Given the description of an element on the screen output the (x, y) to click on. 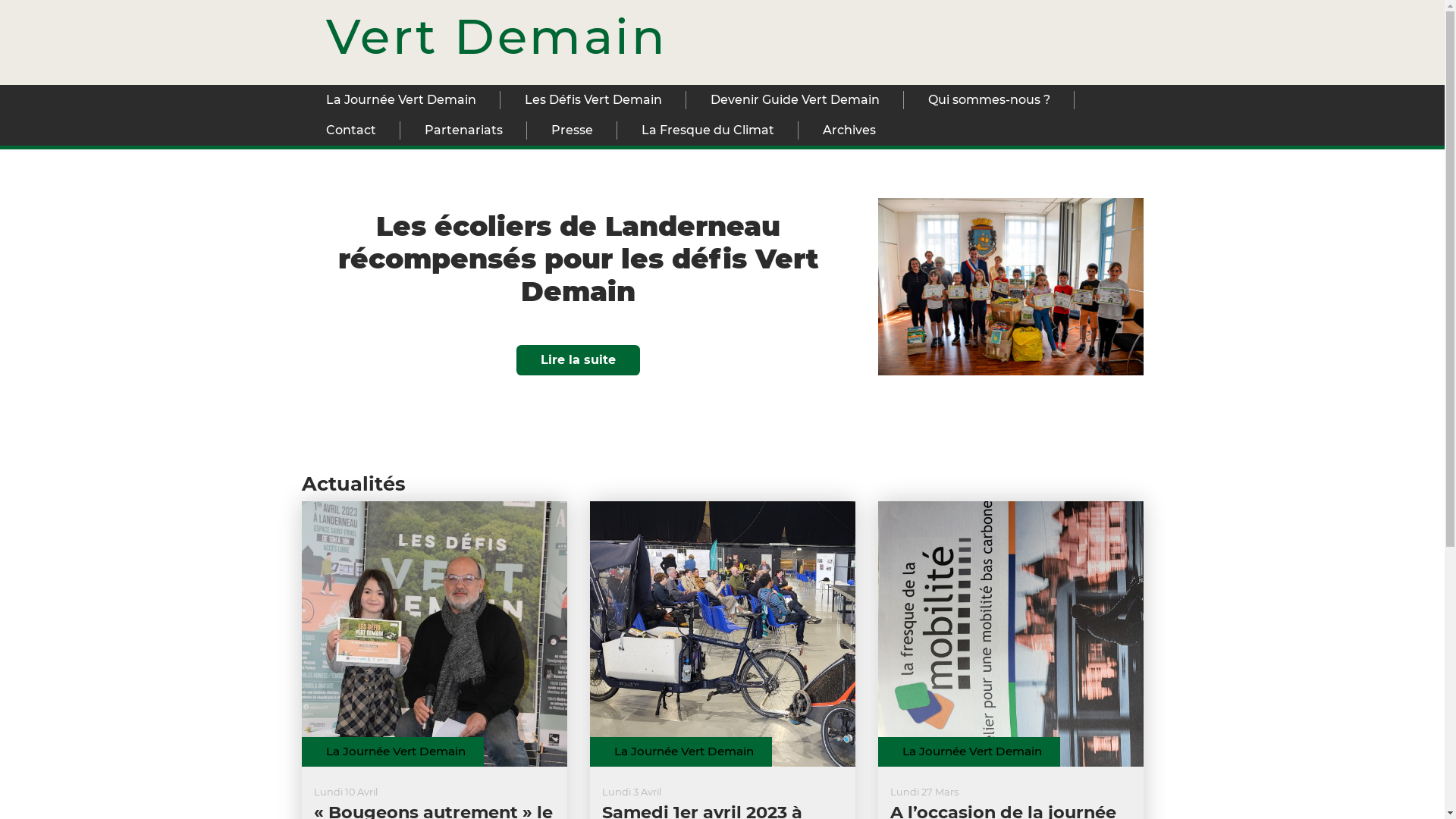
Contact Element type: text (350, 130)
Devenir Guide Vert Demain Element type: text (794, 99)
La Fresque du Climat Element type: text (707, 130)
Presse Element type: text (571, 130)
Qui sommes-nous ? Element type: text (988, 99)
Archives Element type: text (848, 130)
Vert Demain Element type: text (497, 35)
Lire la suite Element type: text (578, 360)
Partenariats Element type: text (463, 130)
